Given the description of an element on the screen output the (x, y) to click on. 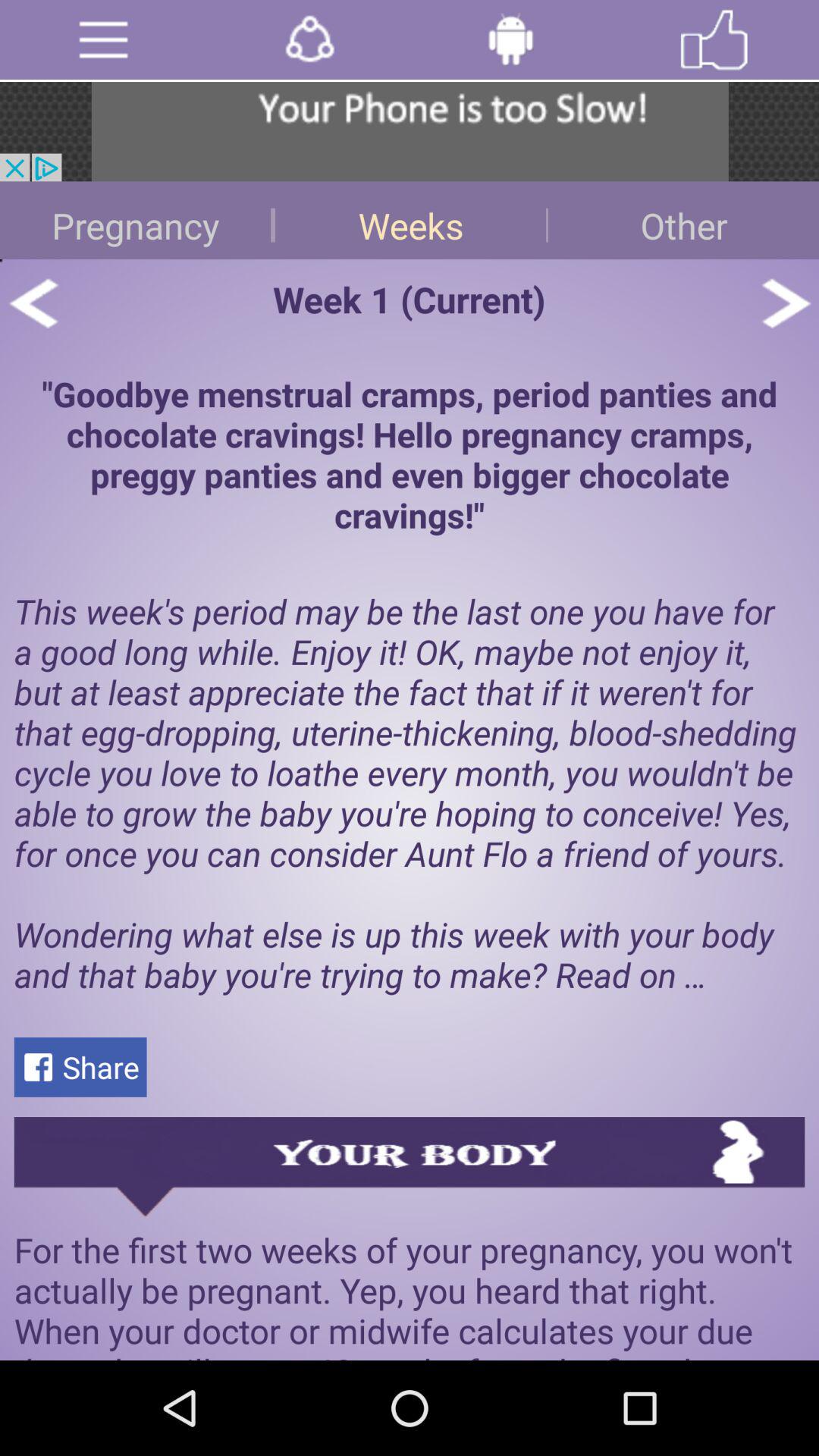
advertisement link (409, 131)
